Given the description of an element on the screen output the (x, y) to click on. 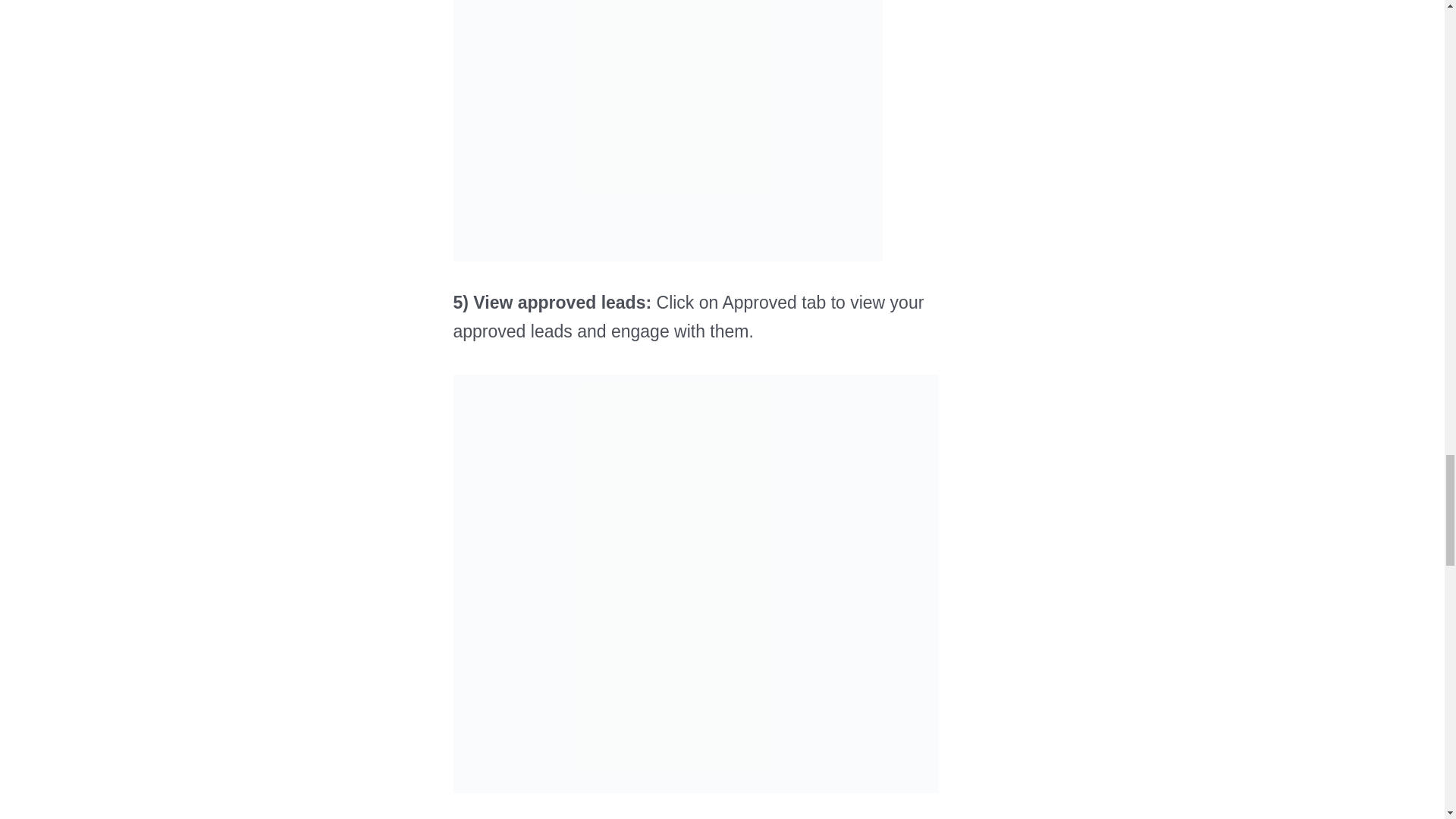
Generate leads from social media using Socedo (667, 130)
